Given the description of an element on the screen output the (x, y) to click on. 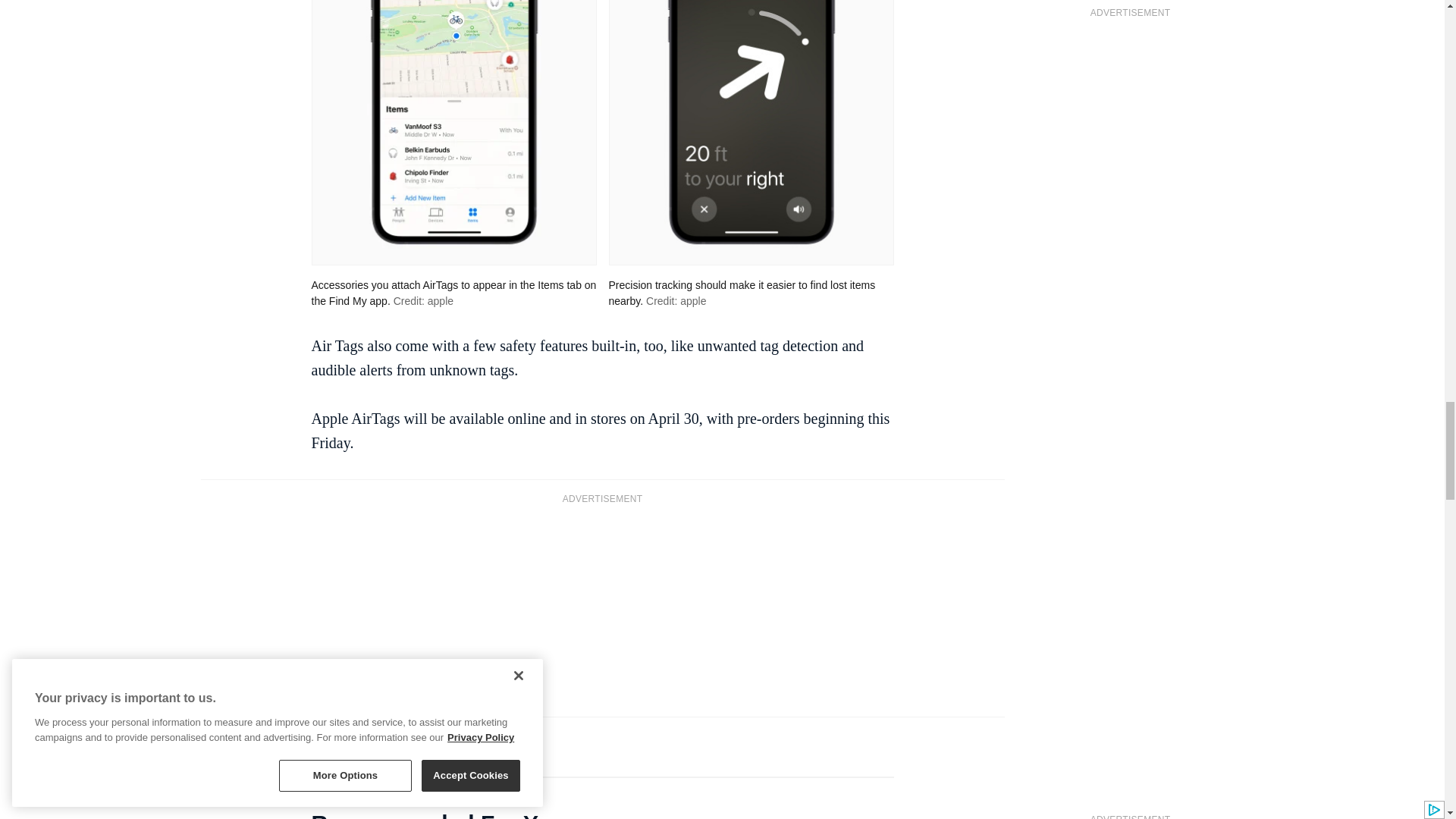
3rd party ad content (601, 608)
